Given the description of an element on the screen output the (x, y) to click on. 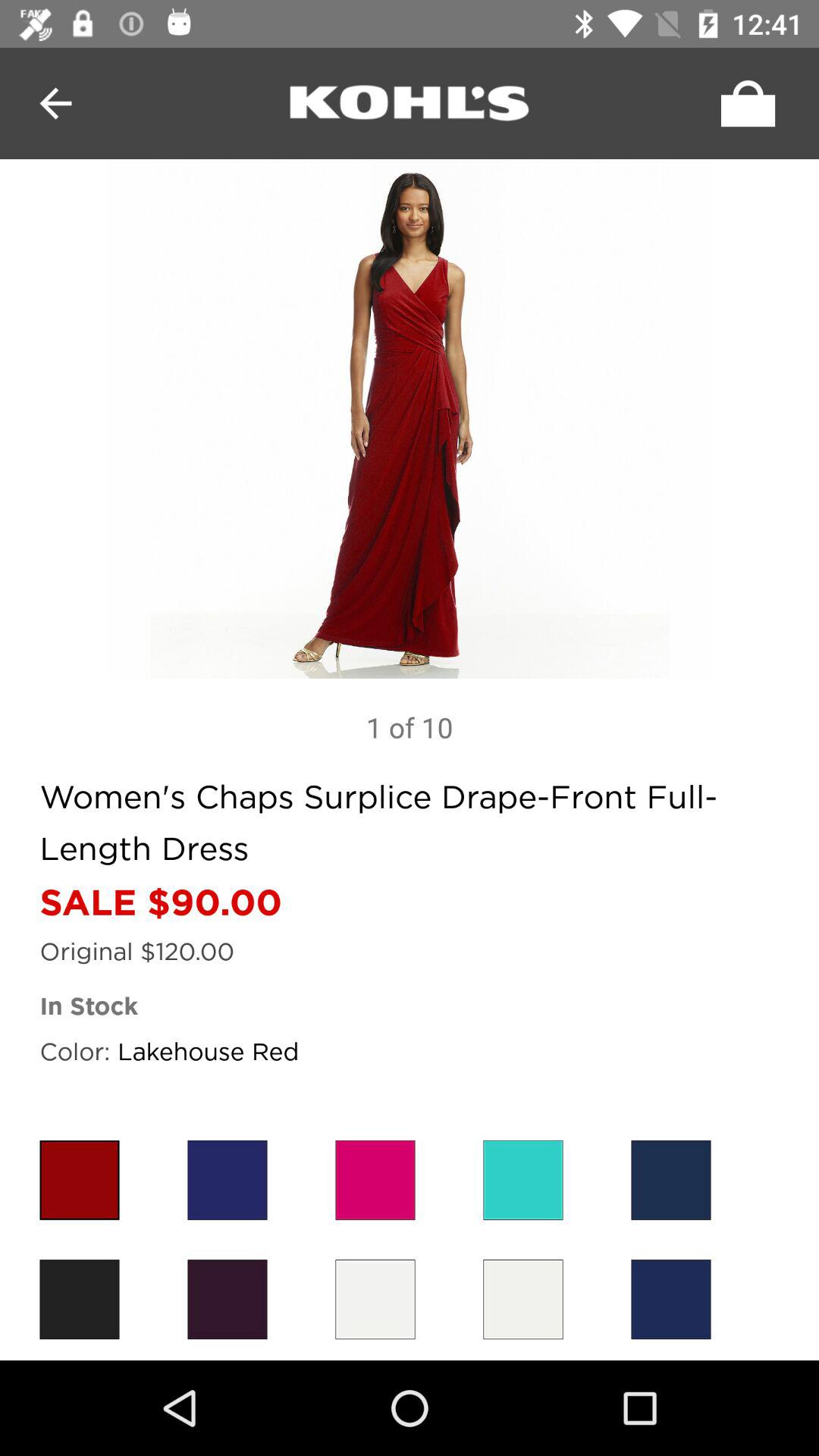
share the page (744, 103)
